Given the description of an element on the screen output the (x, y) to click on. 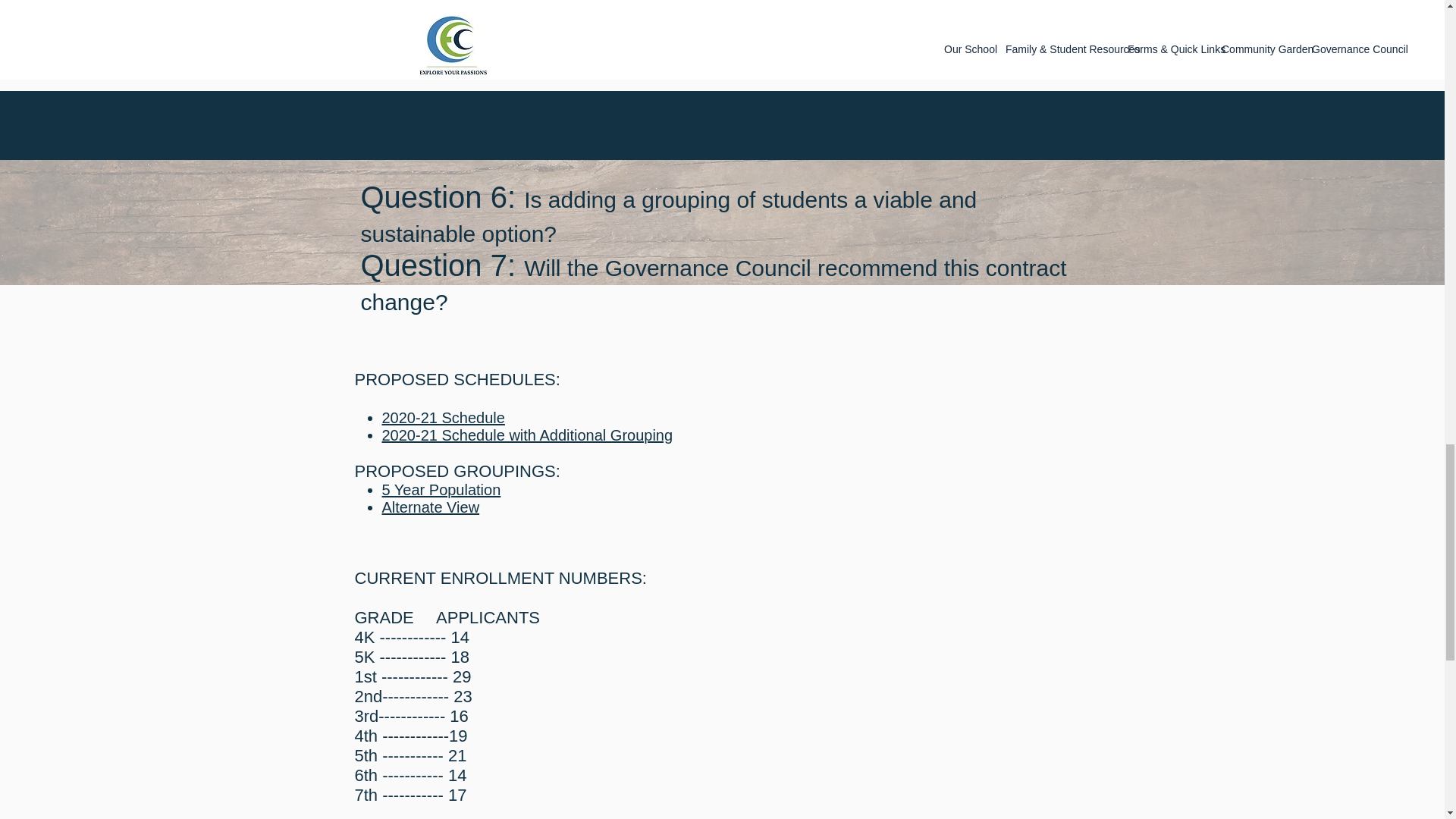
2020-21 Schedule (443, 417)
5 Year Population (440, 489)
Alternate View (430, 506)
2020-21 Schedule with Additional Grouping (526, 434)
